Given the description of an element on the screen output the (x, y) to click on. 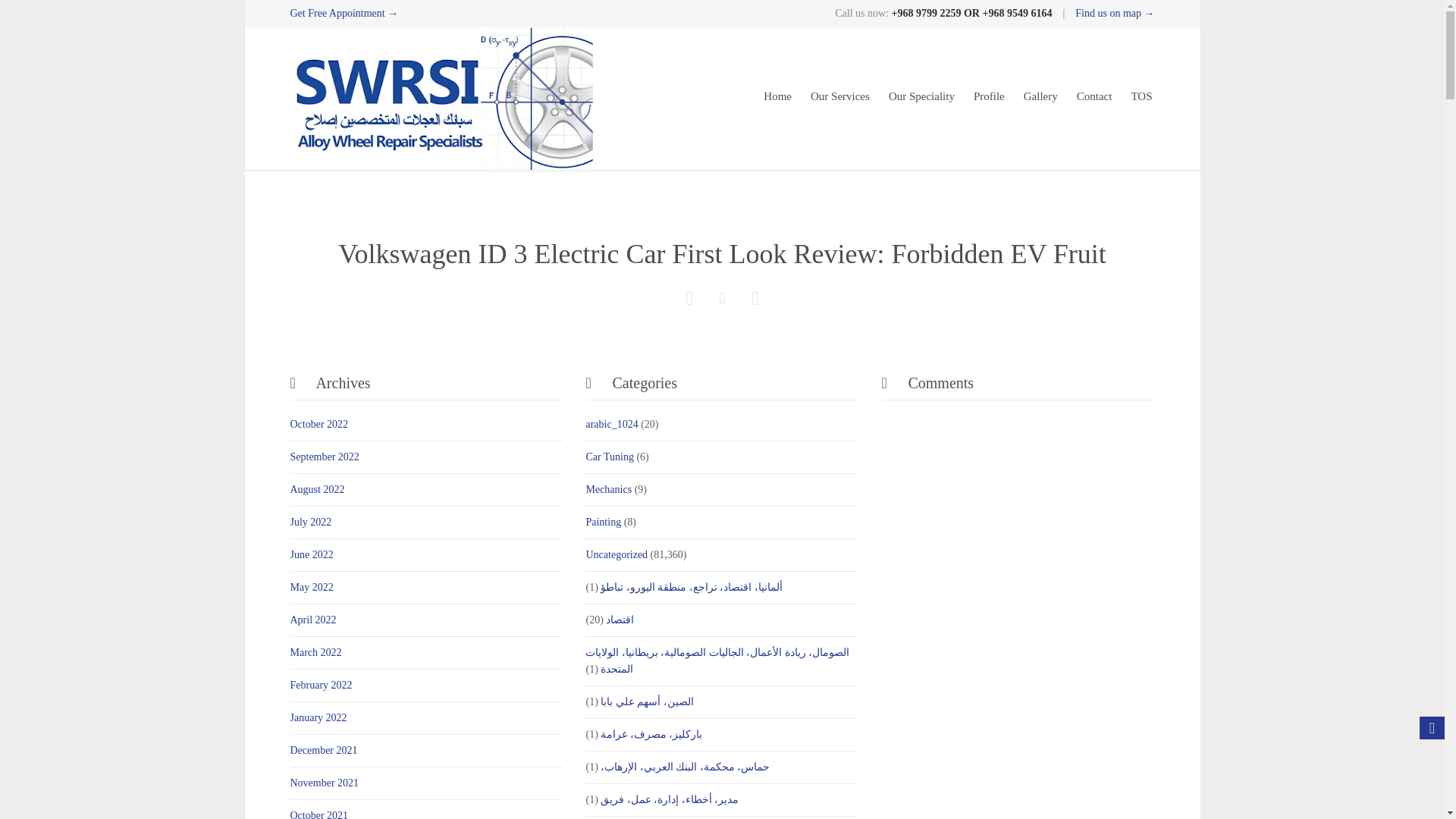
May 2022 (311, 586)
February 2022 (320, 685)
December 2021 (322, 749)
Gallery (1040, 98)
SWRSI OMAN (440, 98)
July 2022 (310, 521)
TOS (1141, 98)
Home (777, 98)
October 2022 (318, 423)
March 2022 (314, 652)
October 2021 (318, 814)
April 2022 (312, 619)
Our Speciality (921, 98)
June 2022 (311, 554)
Profile (989, 98)
